Given the description of an element on the screen output the (x, y) to click on. 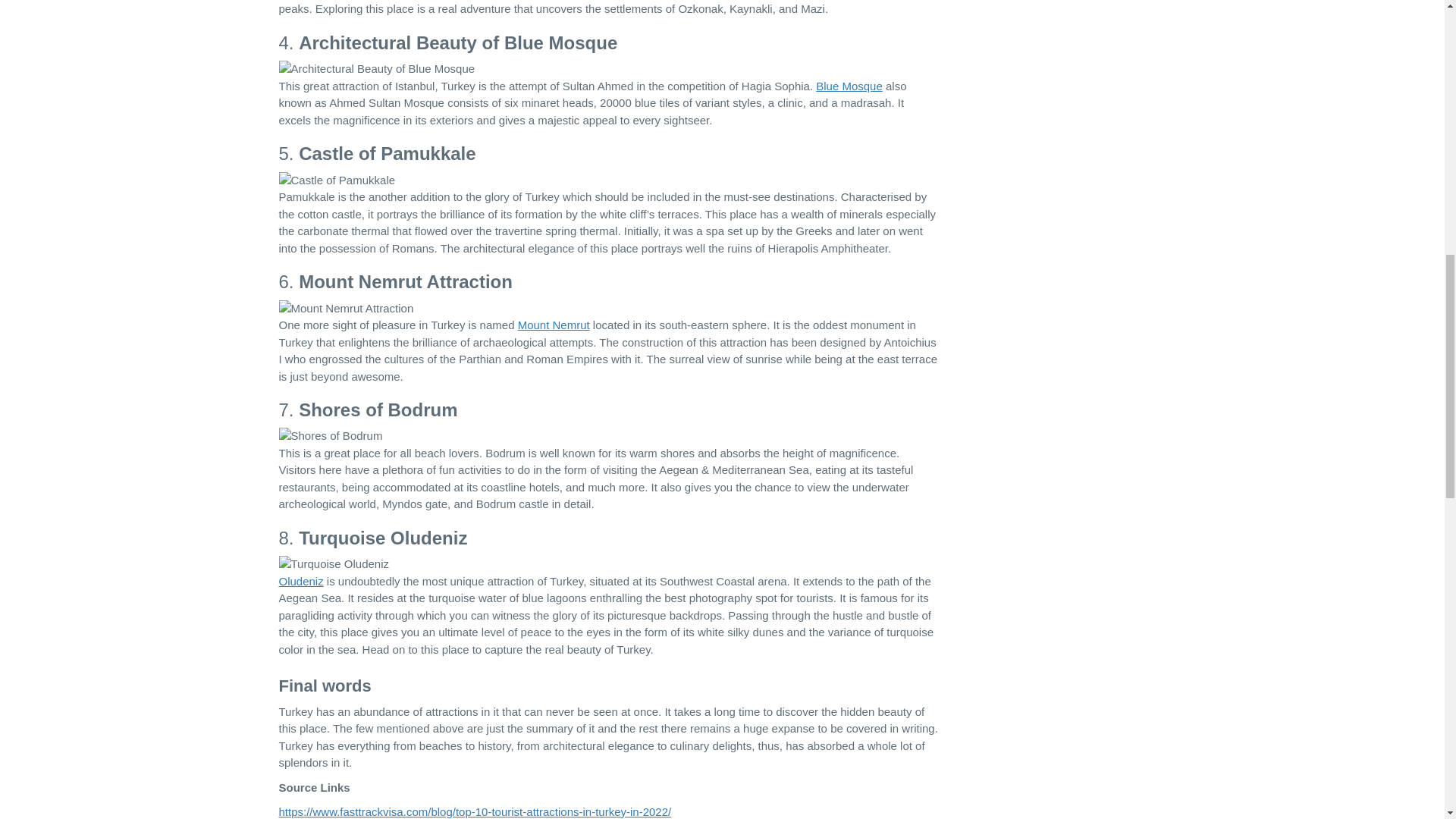
Mount Nemrut (553, 324)
Oludeniz (301, 581)
Blue Mosque (848, 85)
